Given the description of an element on the screen output the (x, y) to click on. 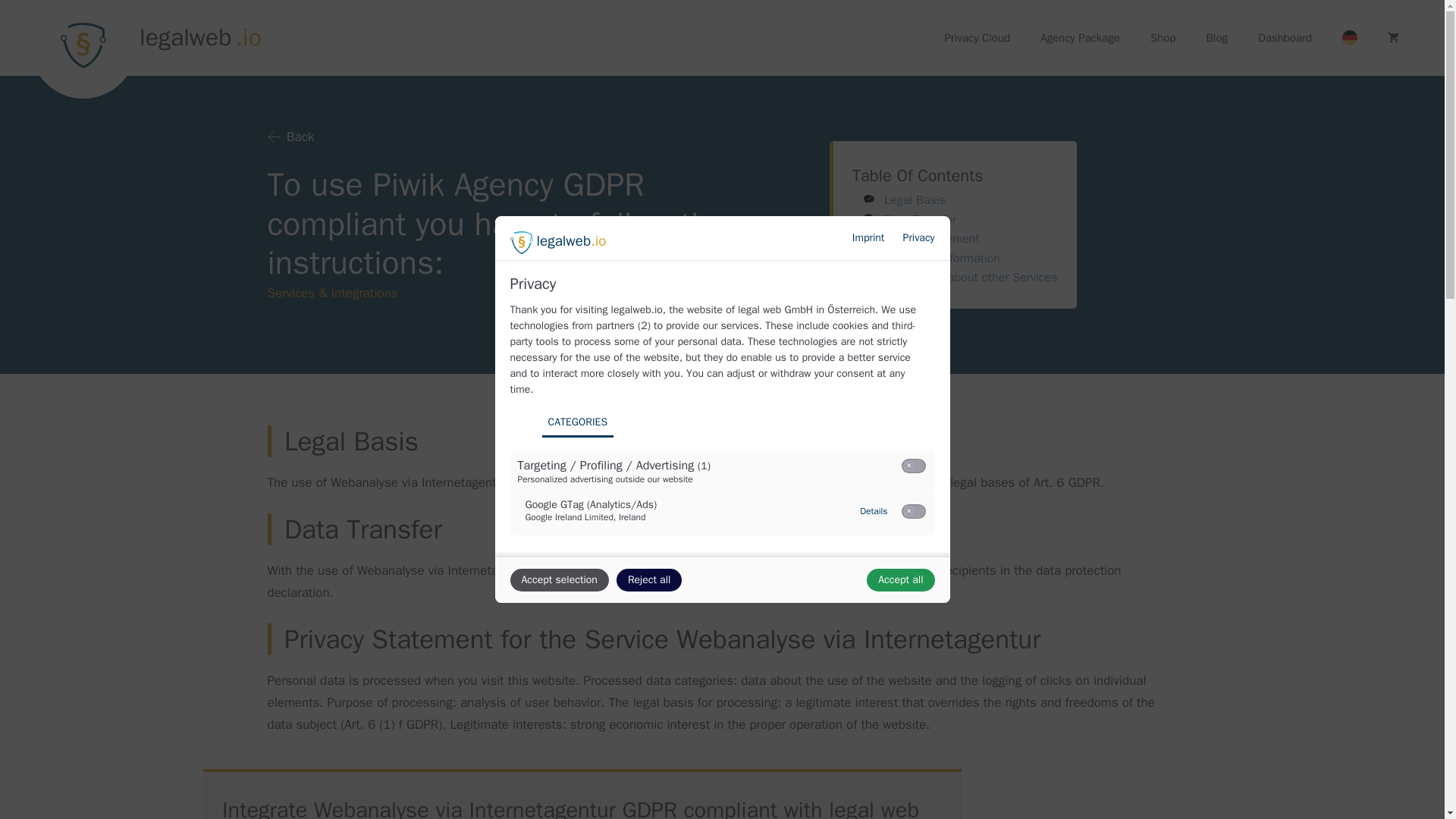
Legal Basis (913, 200)
Information about other Services (970, 277)
Blog (1217, 37)
Link to imprint (868, 237)
Agency Package (1080, 37)
View your shopping cart (1393, 37)
Data Transfer (919, 219)
Additional Information (941, 258)
Shop (1163, 37)
Link to privacy policy (918, 237)
